Given the description of an element on the screen output the (x, y) to click on. 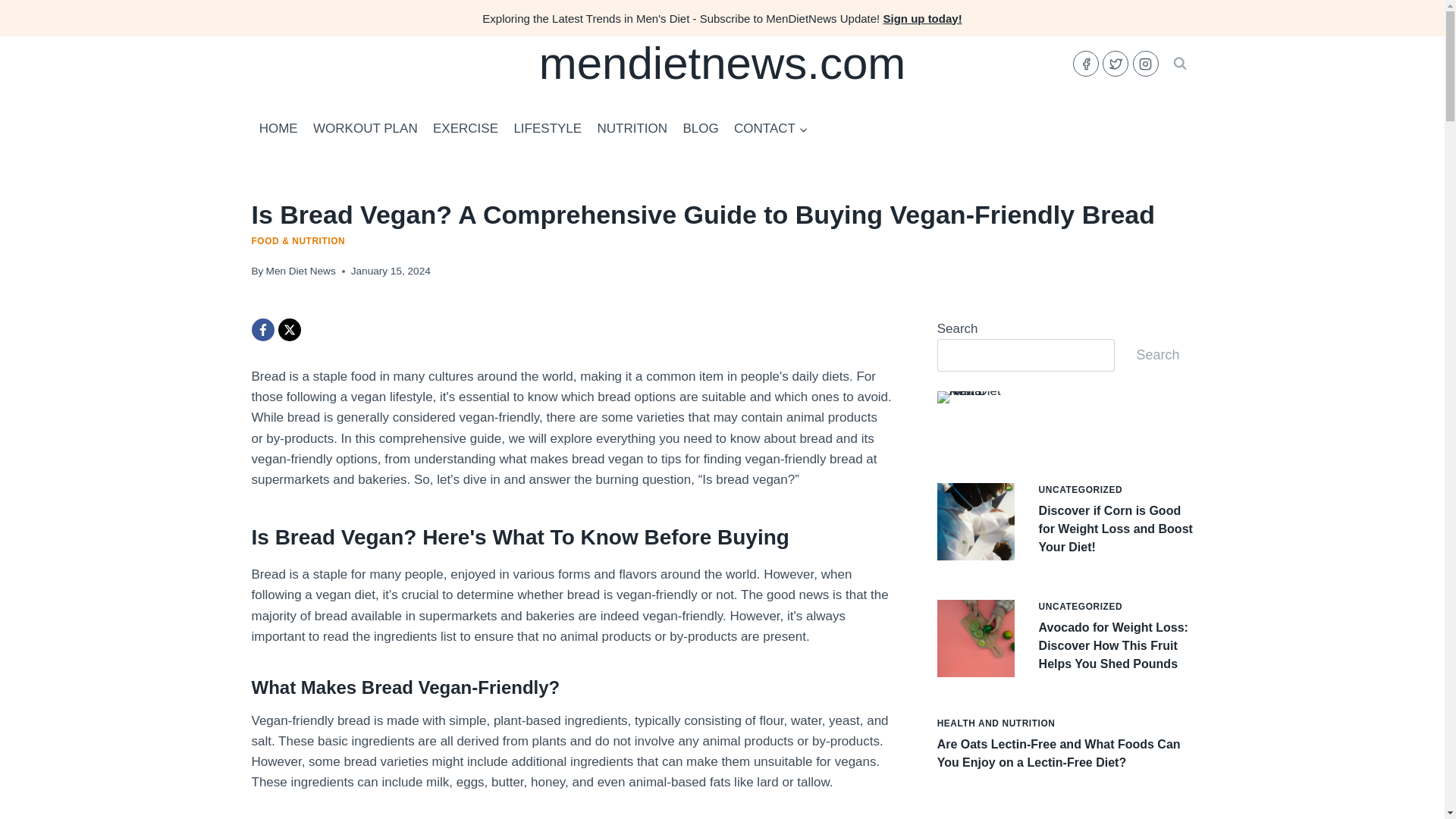
HOME (278, 128)
LIFESTYLE (547, 128)
mendietnews.com (721, 63)
CONTACT (770, 128)
WORKOUT PLAN (365, 128)
EXERCISE (465, 128)
Sign up today! (921, 18)
Sign up today! (921, 18)
BLOG (700, 128)
NUTRITION (632, 128)
